Given the description of an element on the screen output the (x, y) to click on. 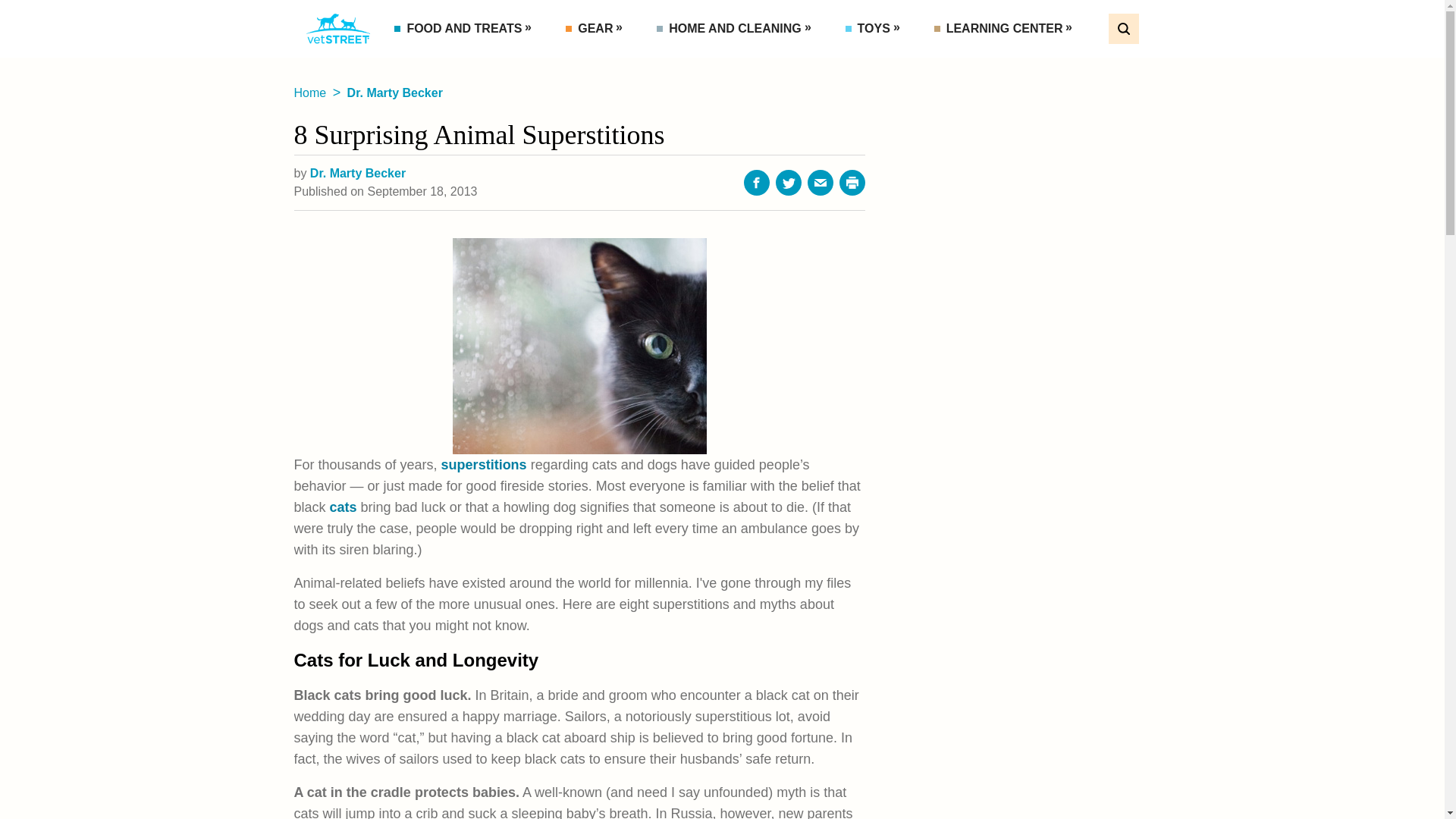
Share on Twitter (789, 182)
GEAR (596, 28)
Cat Food (457, 62)
Share via email (820, 182)
Cat Beds (719, 62)
Share on Facebook (757, 182)
Vetstreet (338, 28)
HOME AND CLEANING (736, 28)
Print (852, 182)
TOYS (875, 28)
LEARNING CENTER (1006, 28)
FOOD AND TREATS (465, 28)
Dogs (1019, 62)
Cat Gear (629, 62)
Cat Toys (909, 62)
